Given the description of an element on the screen output the (x, y) to click on. 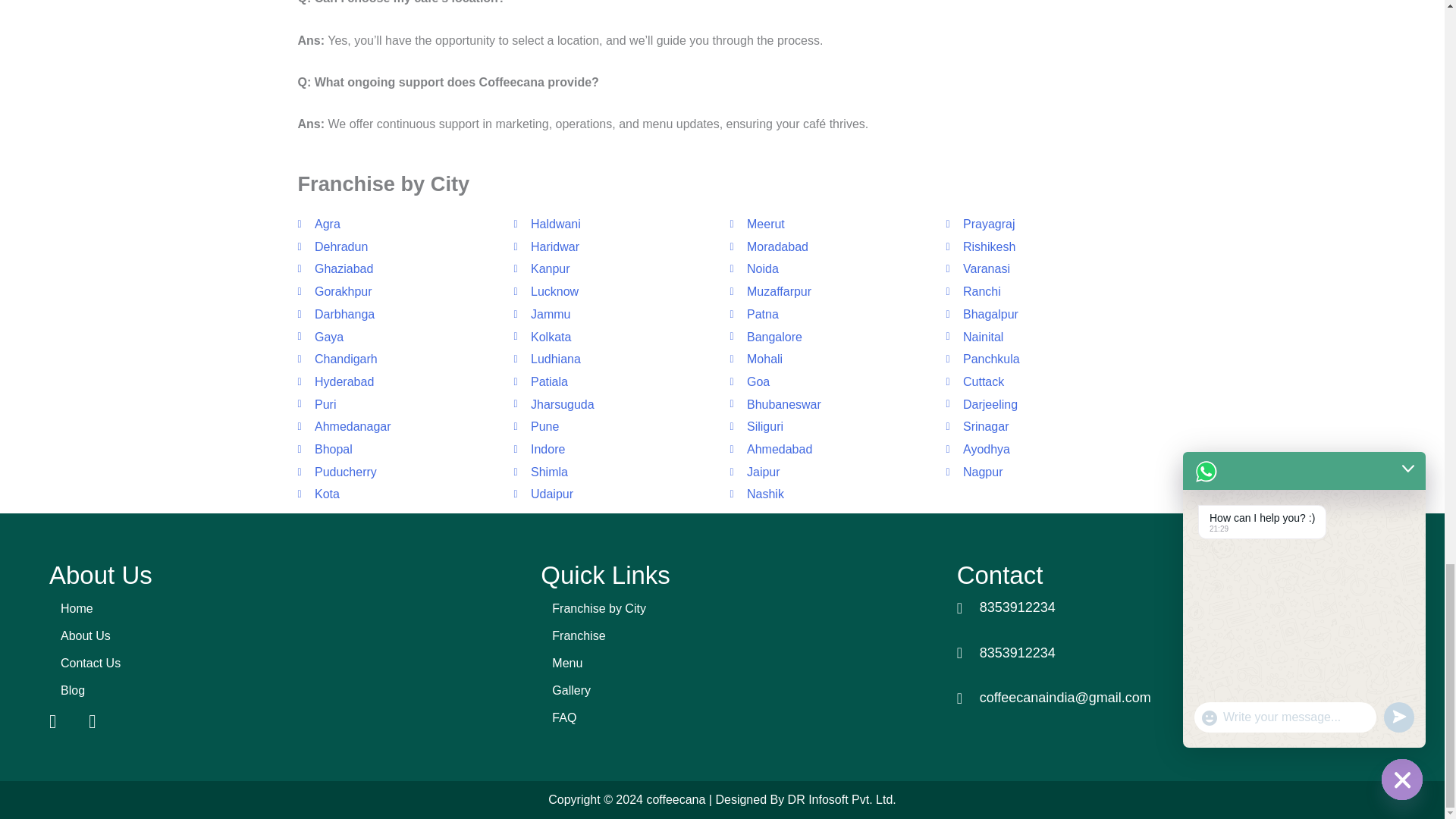
Kanpur (613, 268)
Chandigarh (397, 359)
Hyderabad (397, 382)
Agra (397, 223)
Bhopal (397, 449)
Dehradun (397, 246)
Gorakhpur (397, 291)
Ahmedanagar (397, 426)
Gaya (397, 336)
Haridwar (613, 246)
